Given the description of an element on the screen output the (x, y) to click on. 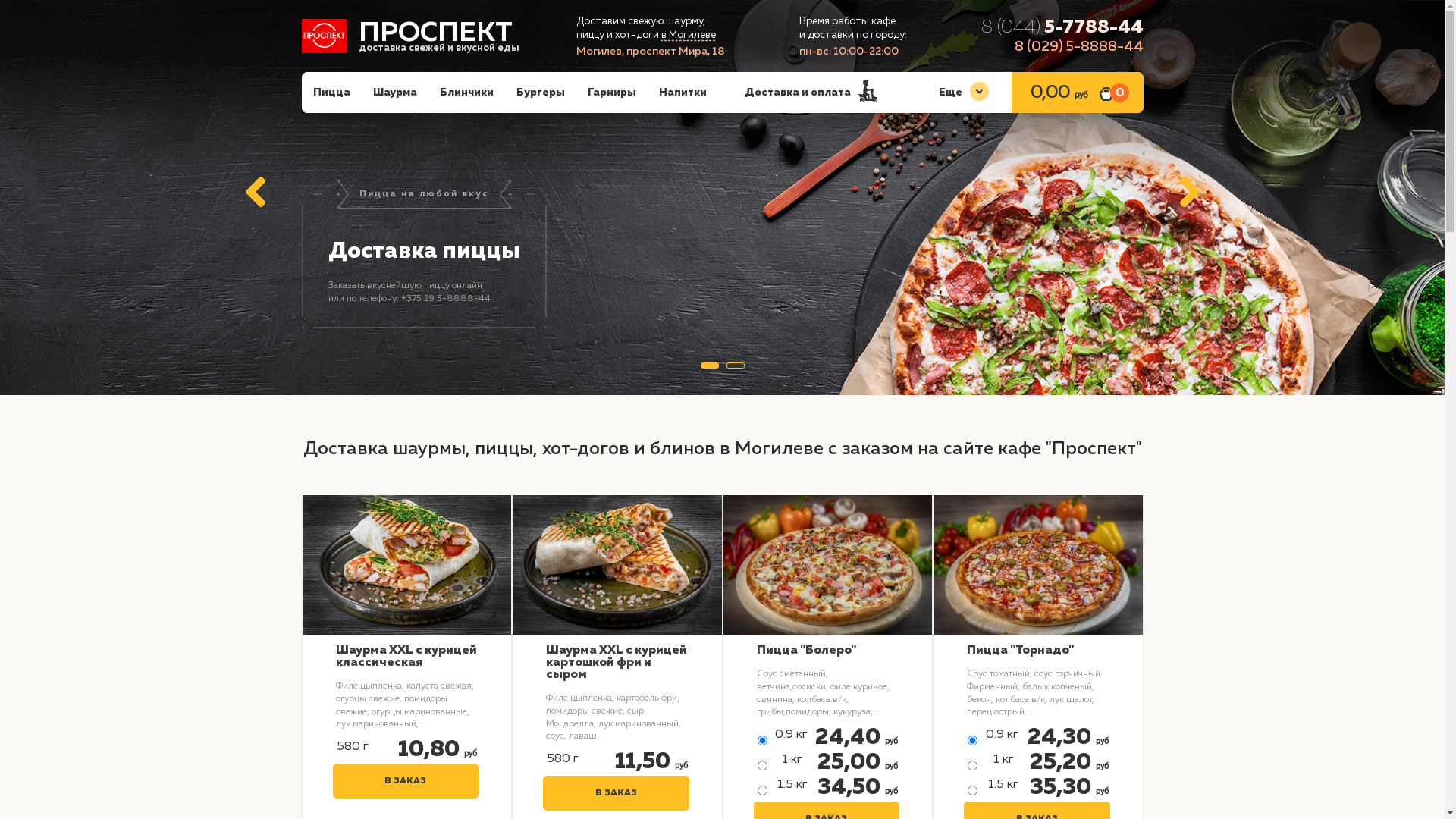
1 Element type: text (709, 365)
8 (044) 5-7788-44 Element type: text (1062, 27)
8 (029) 5-8888-44 Element type: text (1078, 46)
2 Element type: text (735, 365)
